Given the description of an element on the screen output the (x, y) to click on. 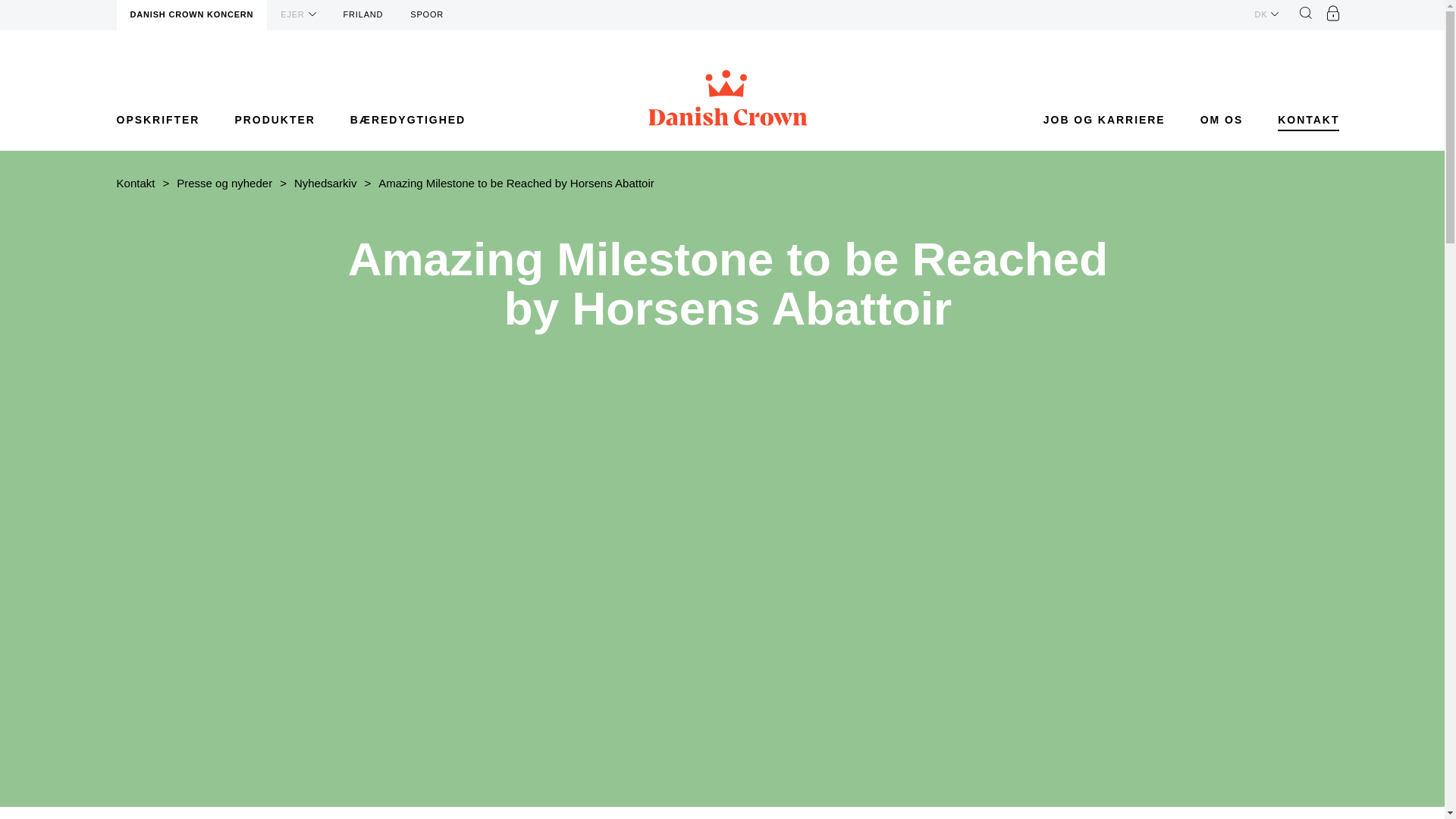
SPOOR (426, 15)
FRILAND (363, 15)
DK (1266, 14)
EJER (297, 14)
OPSKRIFTER (157, 120)
DANISH CROWN KONCERN (191, 15)
